Given the description of an element on the screen output the (x, y) to click on. 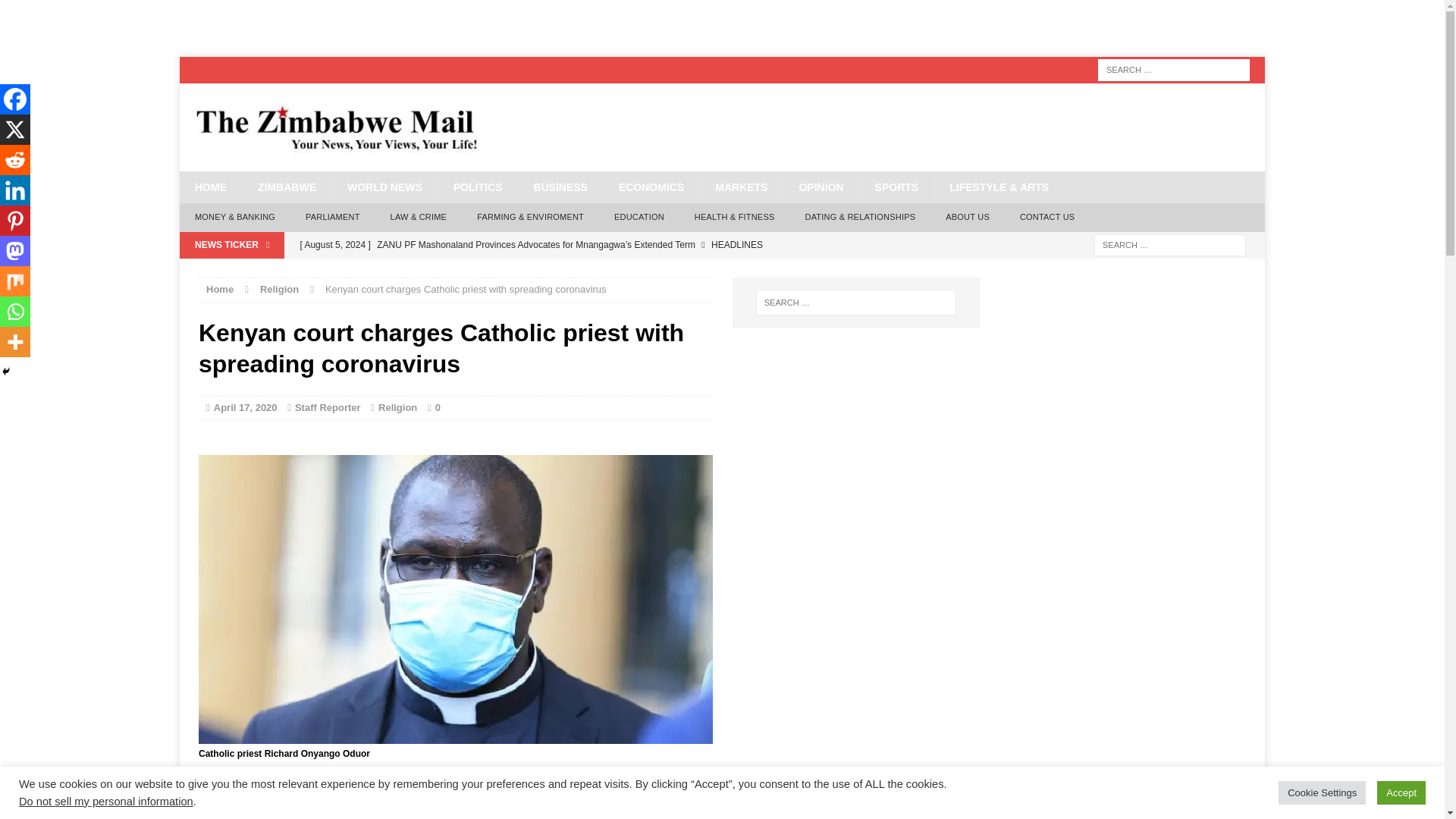
Whatsapp (420, 807)
POLITICS (478, 187)
MARKETS (740, 187)
Linkedin (301, 807)
Pinterest (331, 807)
Facebook (213, 807)
Mix (390, 807)
X (243, 807)
OPINION (821, 187)
CONTACT US (1047, 217)
SPORTS (896, 187)
PARLIAMENT (331, 217)
WORLD NEWS (384, 187)
ZIMBABWE (286, 187)
ECONOMICS (650, 187)
